Given the description of an element on the screen output the (x, y) to click on. 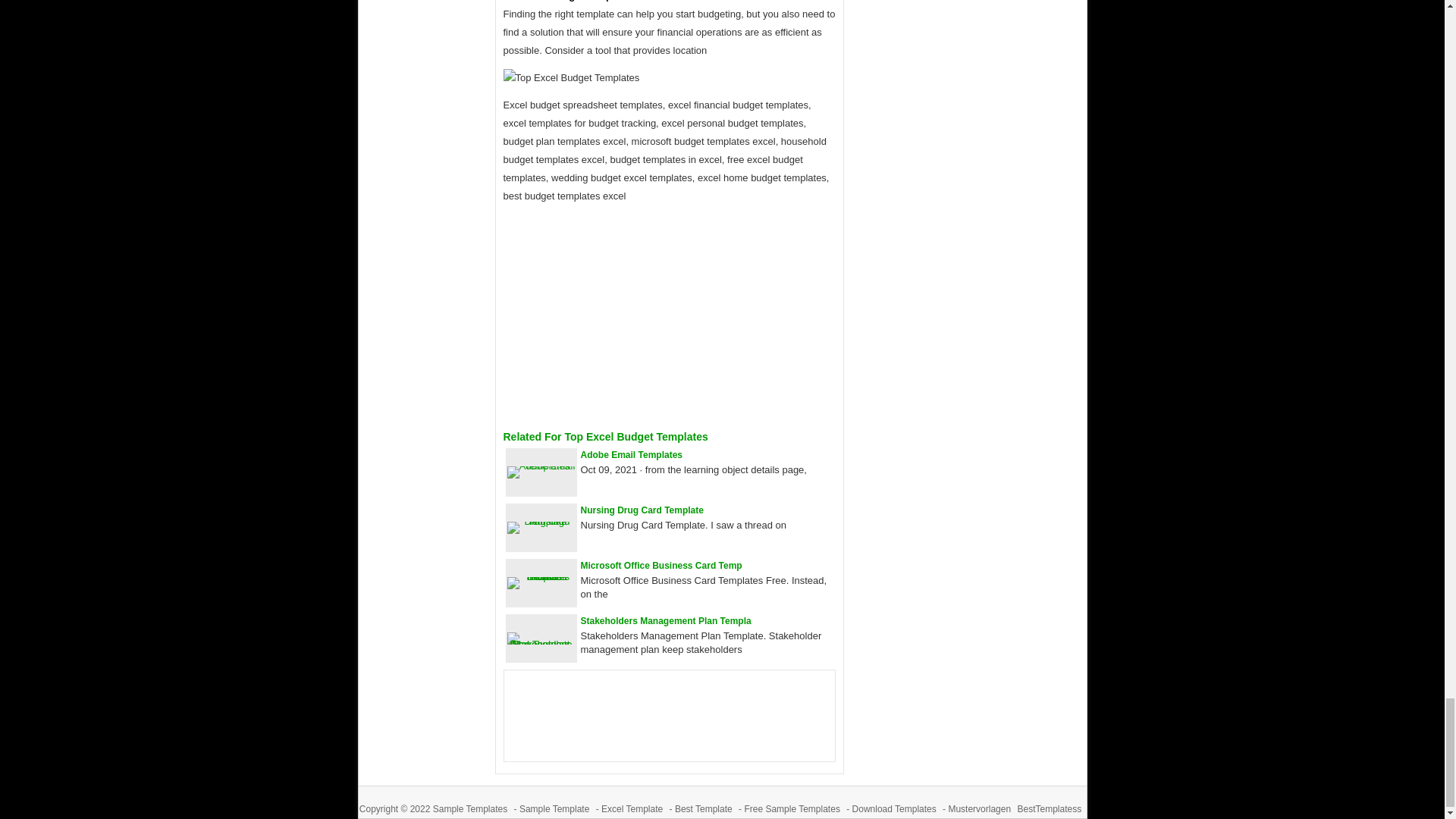
Microsoft Office Business Card Temp (661, 565)
Adobe Email Templates (631, 454)
Stakeholders Management Plan Templa (665, 620)
Nursing Drug Card Template (641, 510)
